Given the description of an element on the screen output the (x, y) to click on. 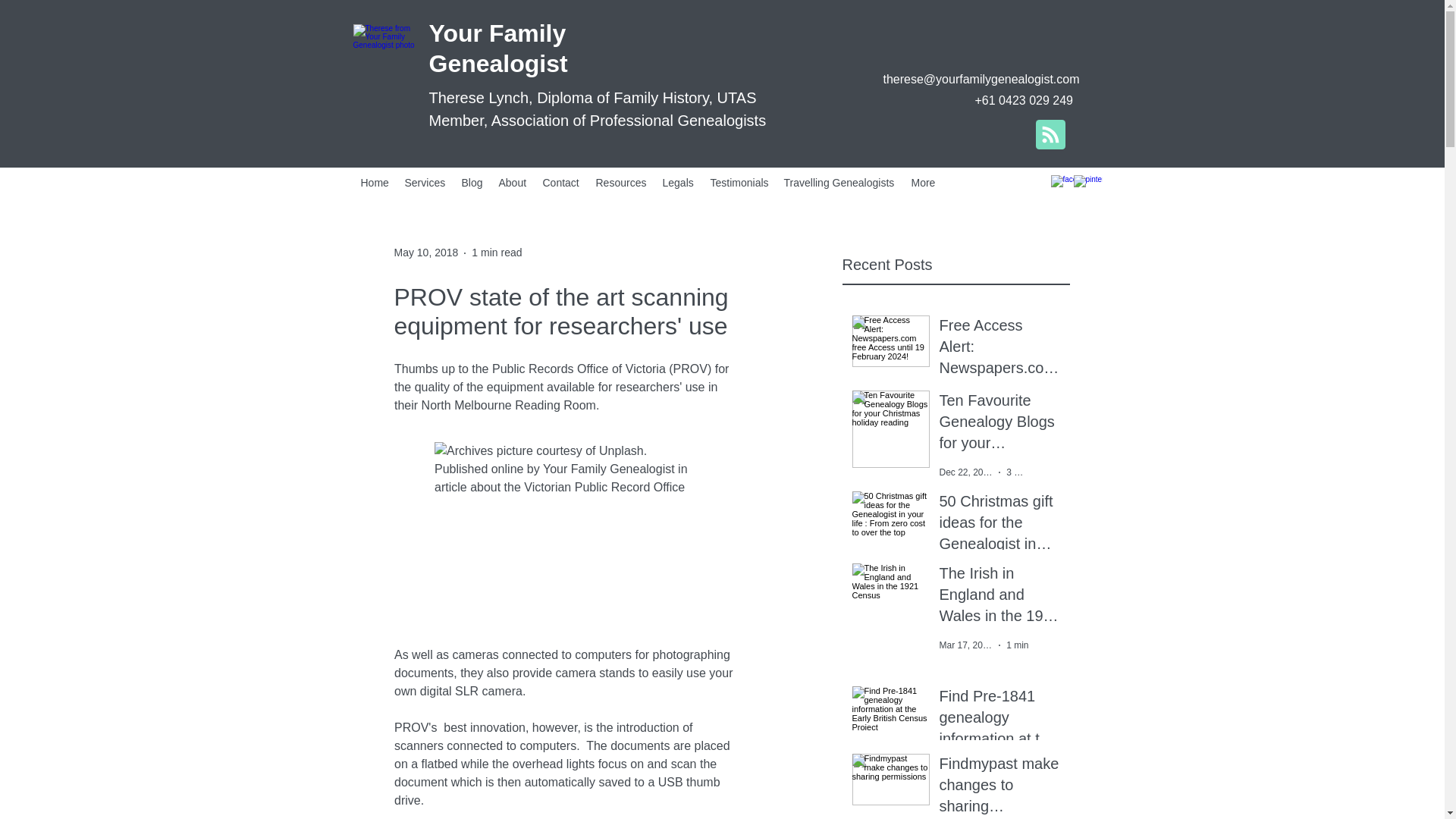
1 min (1016, 644)
Contact (561, 182)
About (513, 182)
Resources (621, 182)
Services (425, 182)
Blog (471, 182)
3 min (1016, 471)
Travelling Genealogists (840, 182)
Legals (679, 182)
Home (375, 182)
Dec 22, 2023 (965, 471)
